Given the description of an element on the screen output the (x, y) to click on. 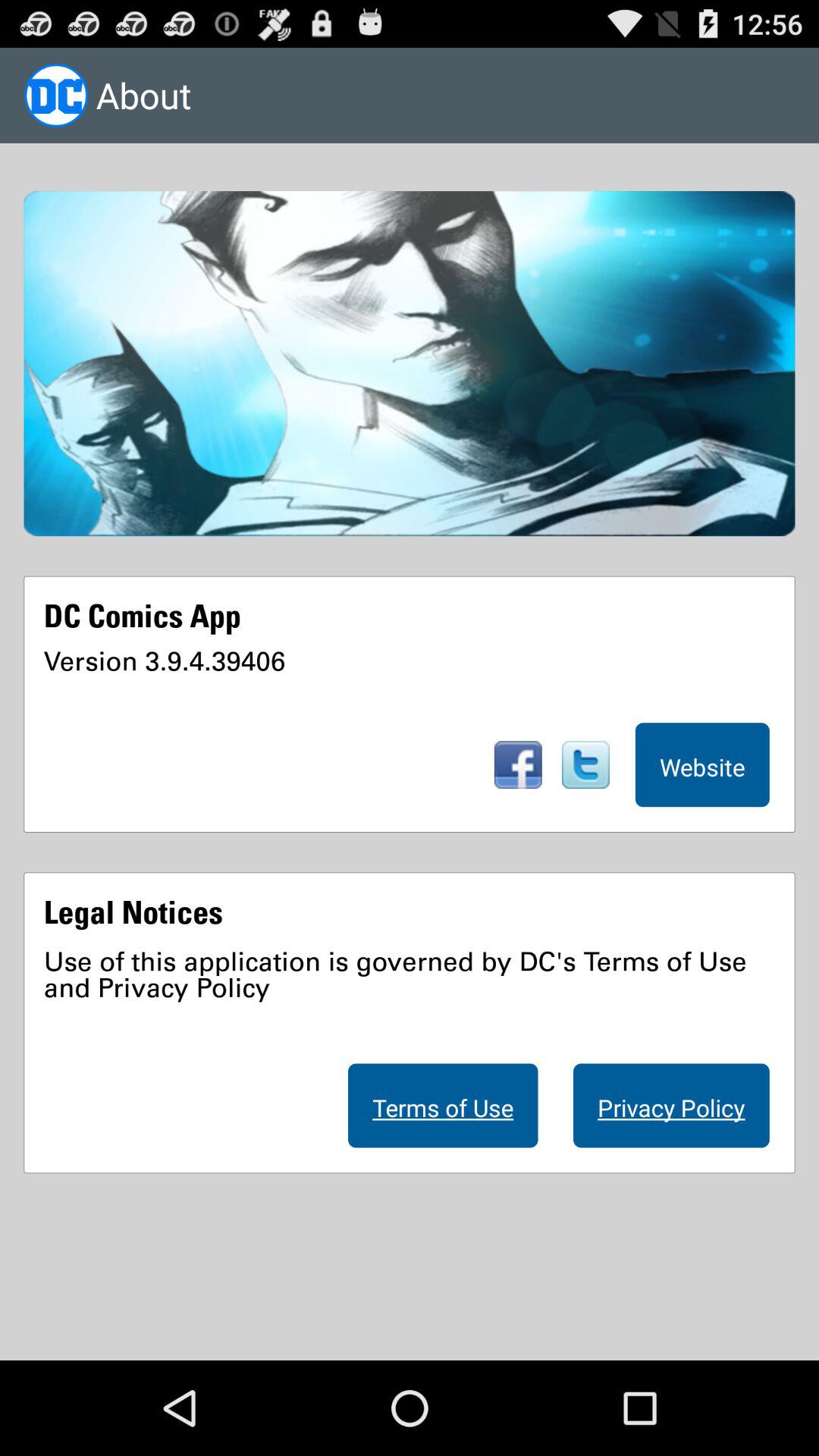
jump to the website (702, 764)
